Given the description of an element on the screen output the (x, y) to click on. 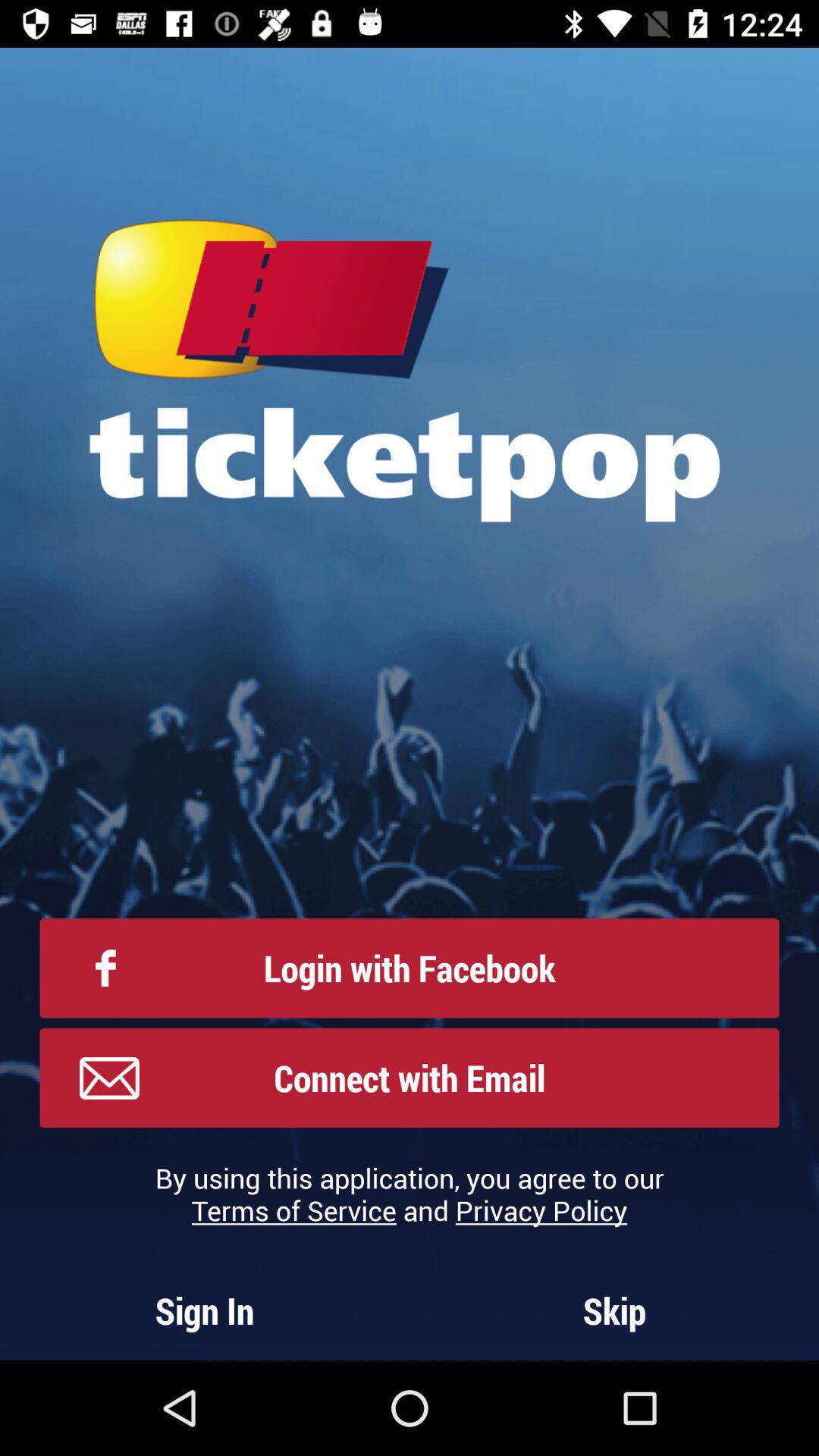
press the icon to the left of skip item (204, 1310)
